Given the description of an element on the screen output the (x, y) to click on. 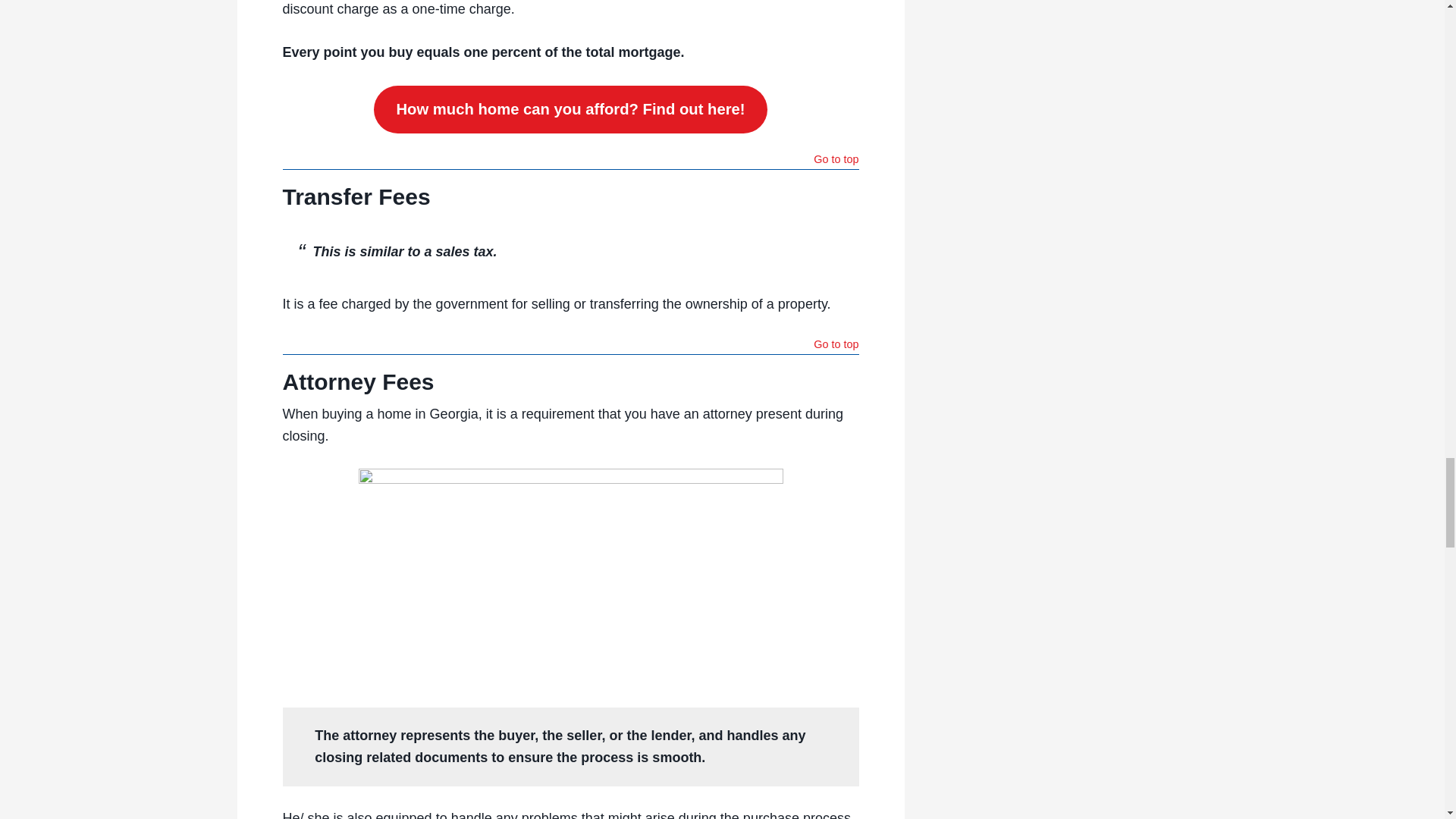
How much home can you afford? Find out here! (570, 109)
Go to top (836, 345)
Go to top (836, 160)
